Given the description of an element on the screen output the (x, y) to click on. 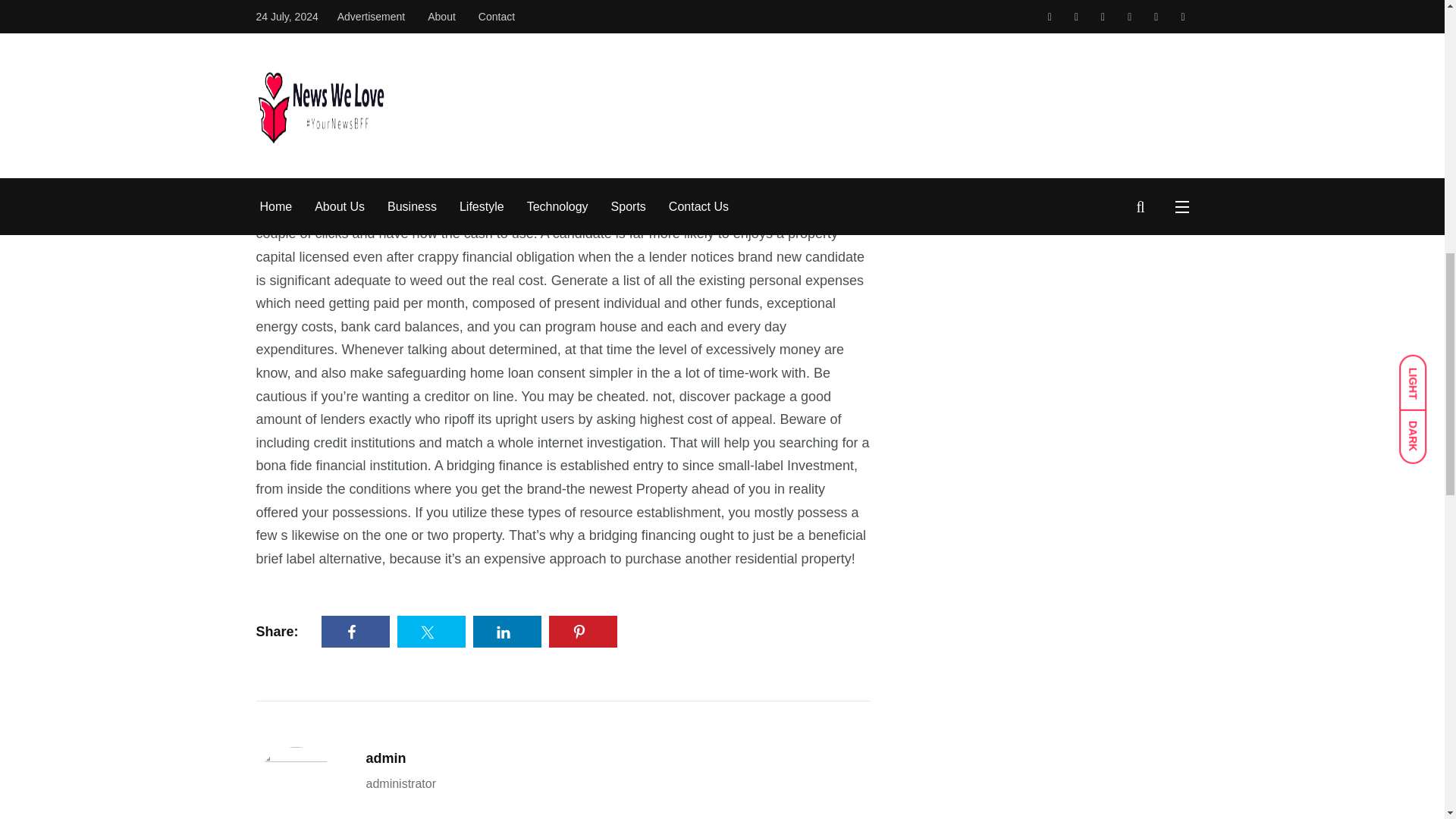
Posts by admin (385, 758)
Share on LinkedIn (507, 631)
Share on Facebook (355, 631)
Share on Twitter (431, 631)
Share on Pinterest (582, 631)
